Given the description of an element on the screen output the (x, y) to click on. 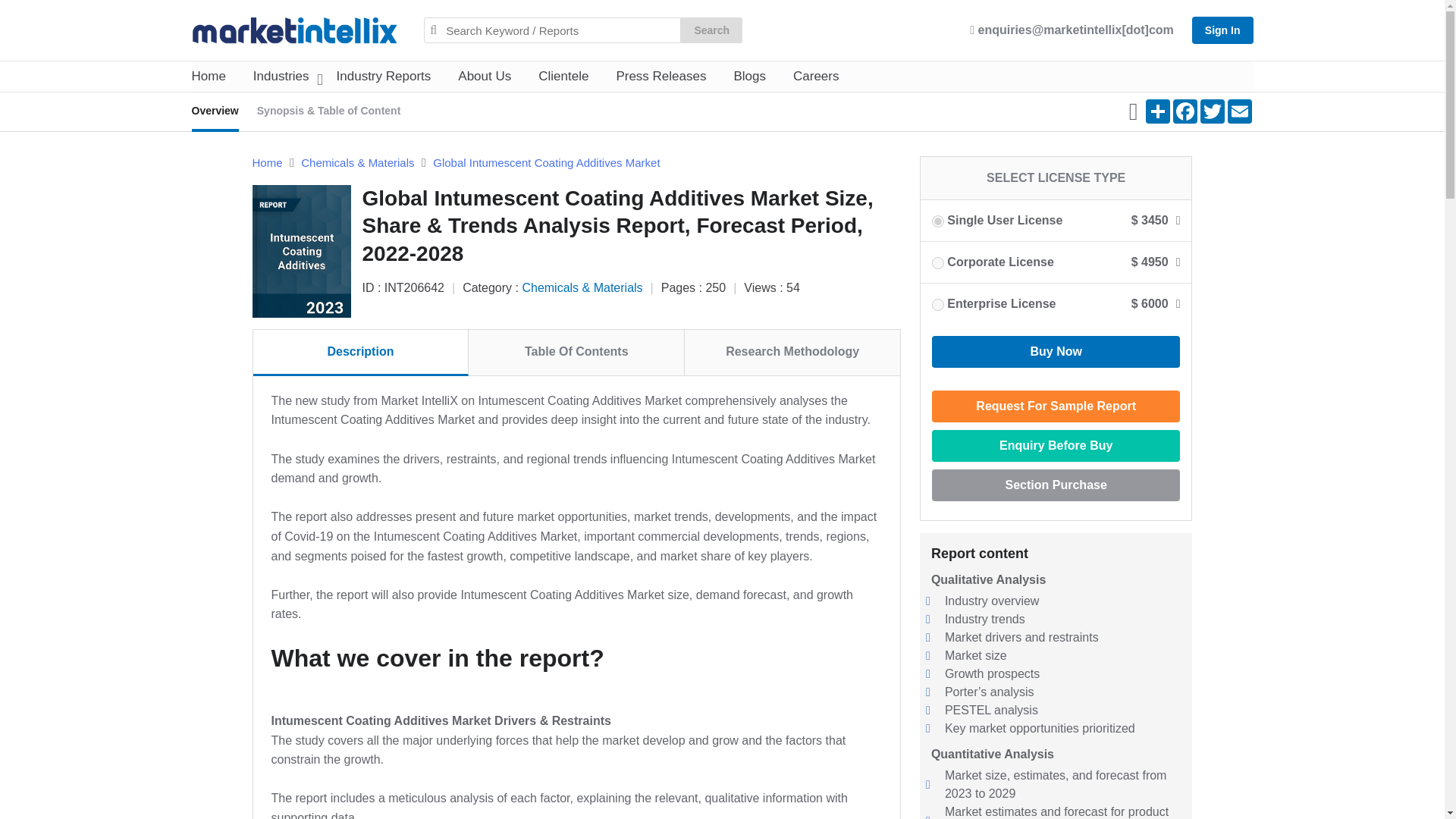
1 (937, 221)
Search (711, 30)
Industry Reports (383, 76)
Blogs (749, 76)
Industries (280, 76)
About Us (484, 76)
4 (937, 304)
Home (207, 76)
3 (937, 263)
Sign In (1222, 30)
Press Releases (660, 76)
Careers (815, 76)
Clientele (563, 76)
